Given the description of an element on the screen output the (x, y) to click on. 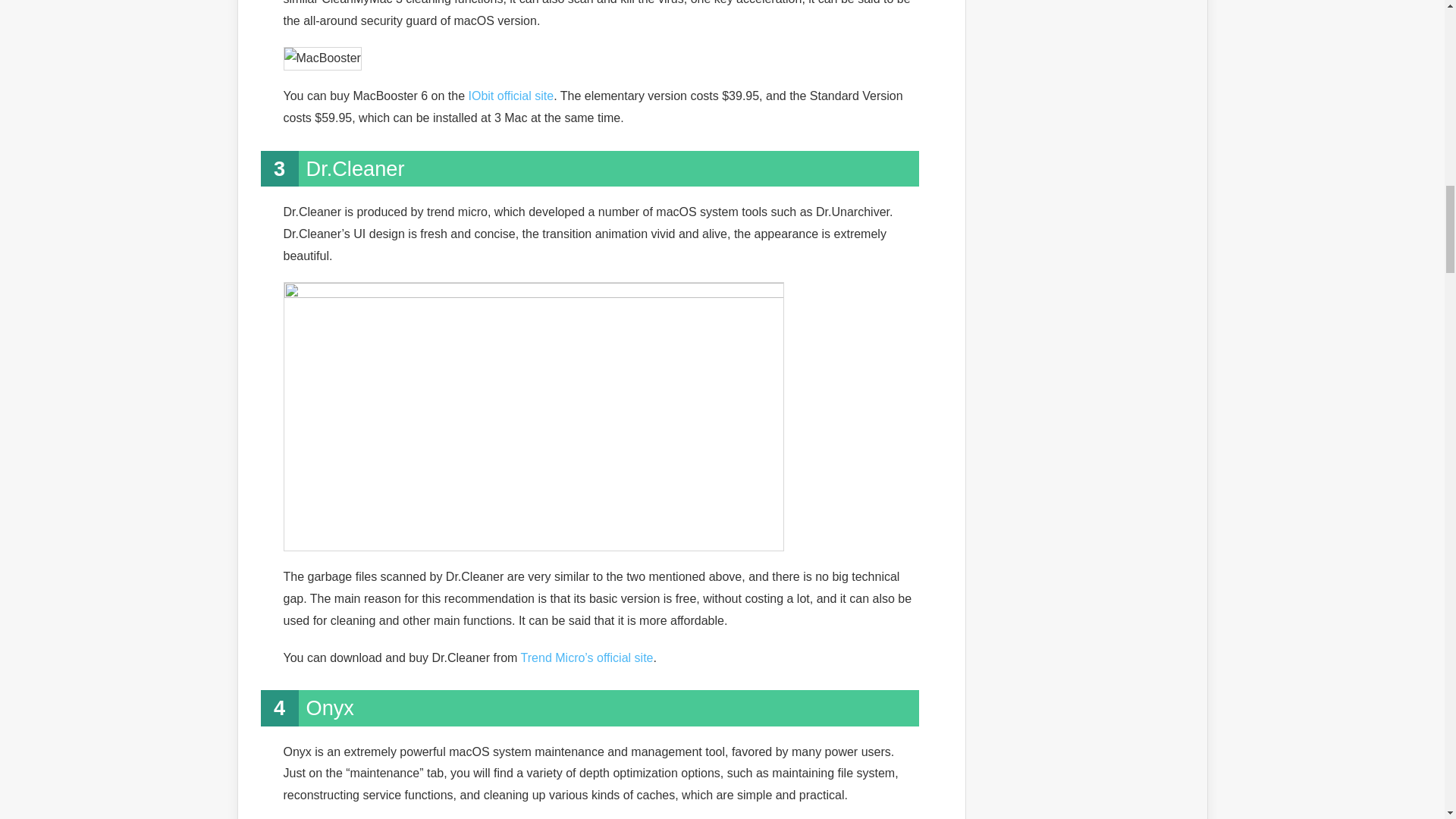
IObit official site (511, 95)
